Given the description of an element on the screen output the (x, y) to click on. 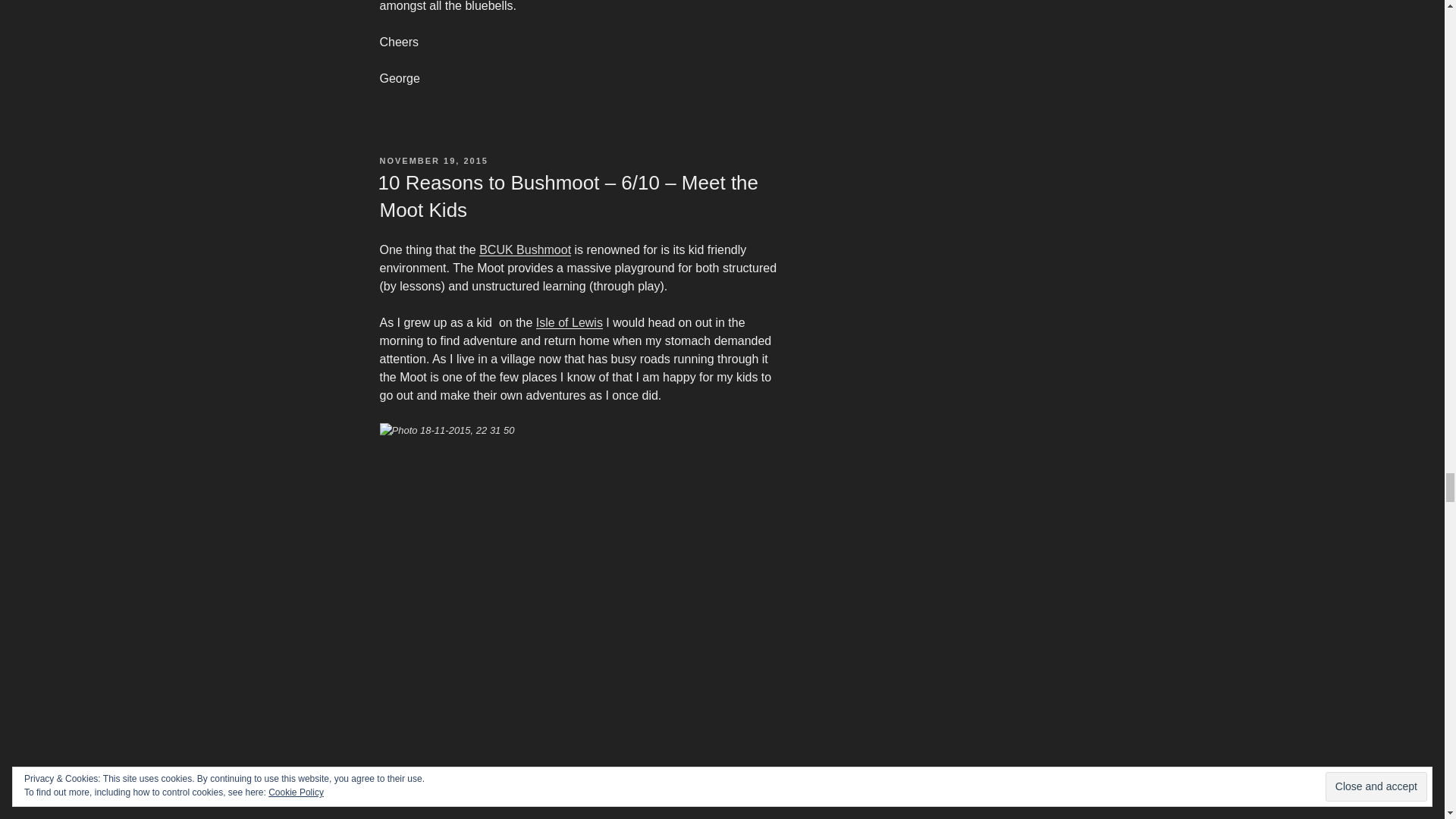
Isle of Lewis (568, 322)
BCUK Bushmoot (524, 249)
NOVEMBER 19, 2015 (432, 160)
